Given the description of an element on the screen output the (x, y) to click on. 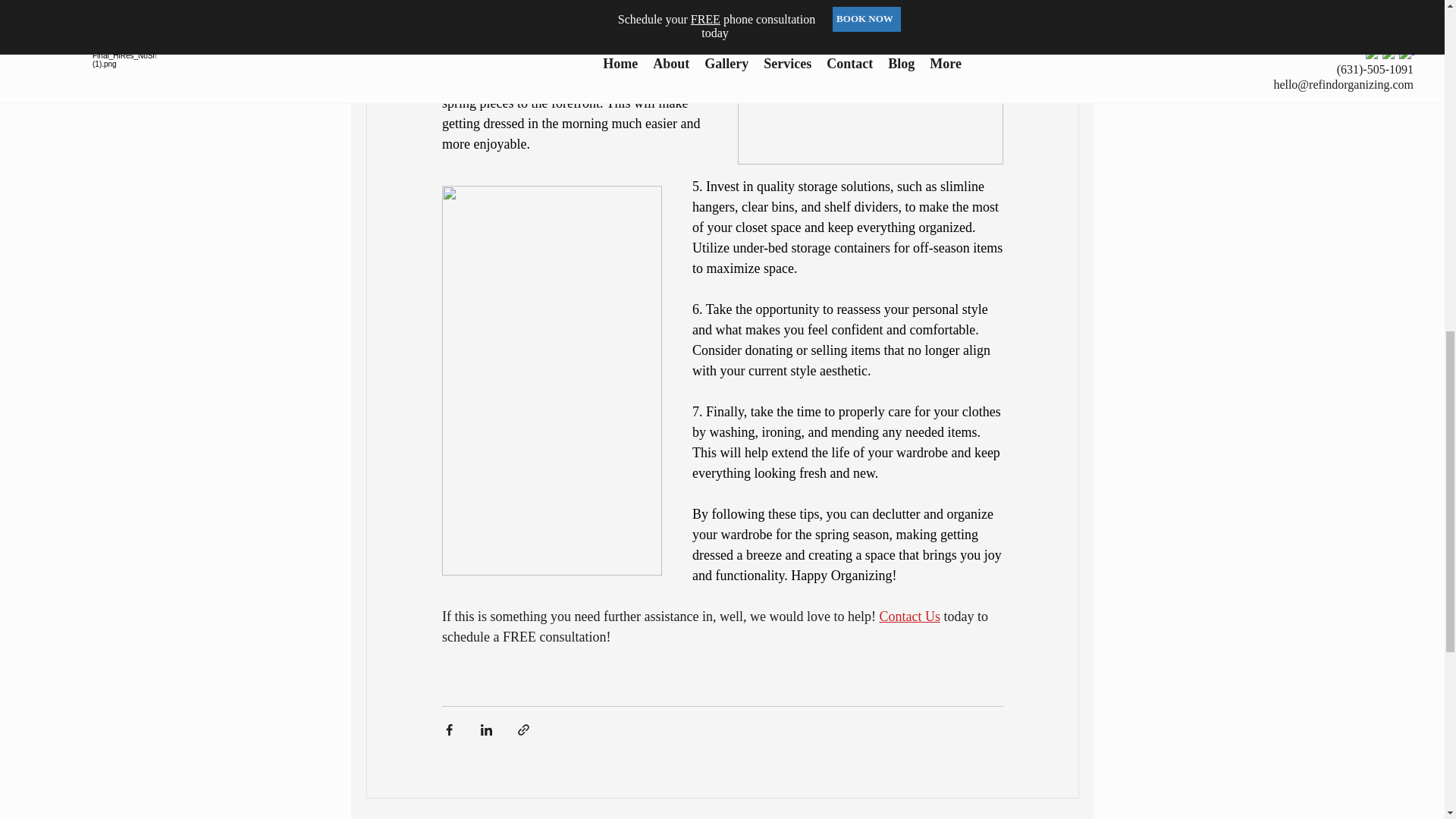
See All (1061, 817)
Contact Us (909, 616)
